Given the description of an element on the screen output the (x, y) to click on. 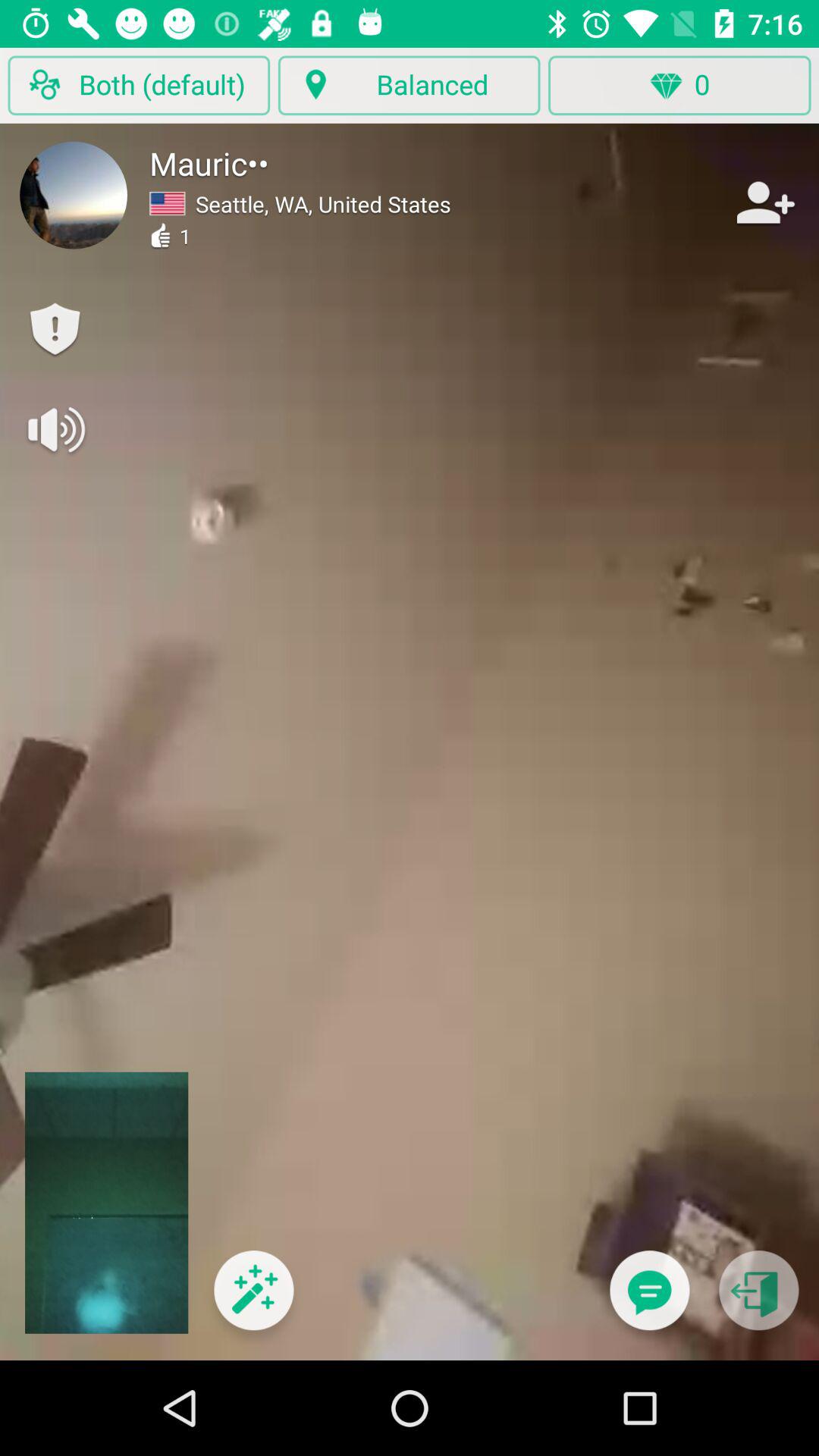
press the item next to seattle wa united icon (763, 202)
